Given the description of an element on the screen output the (x, y) to click on. 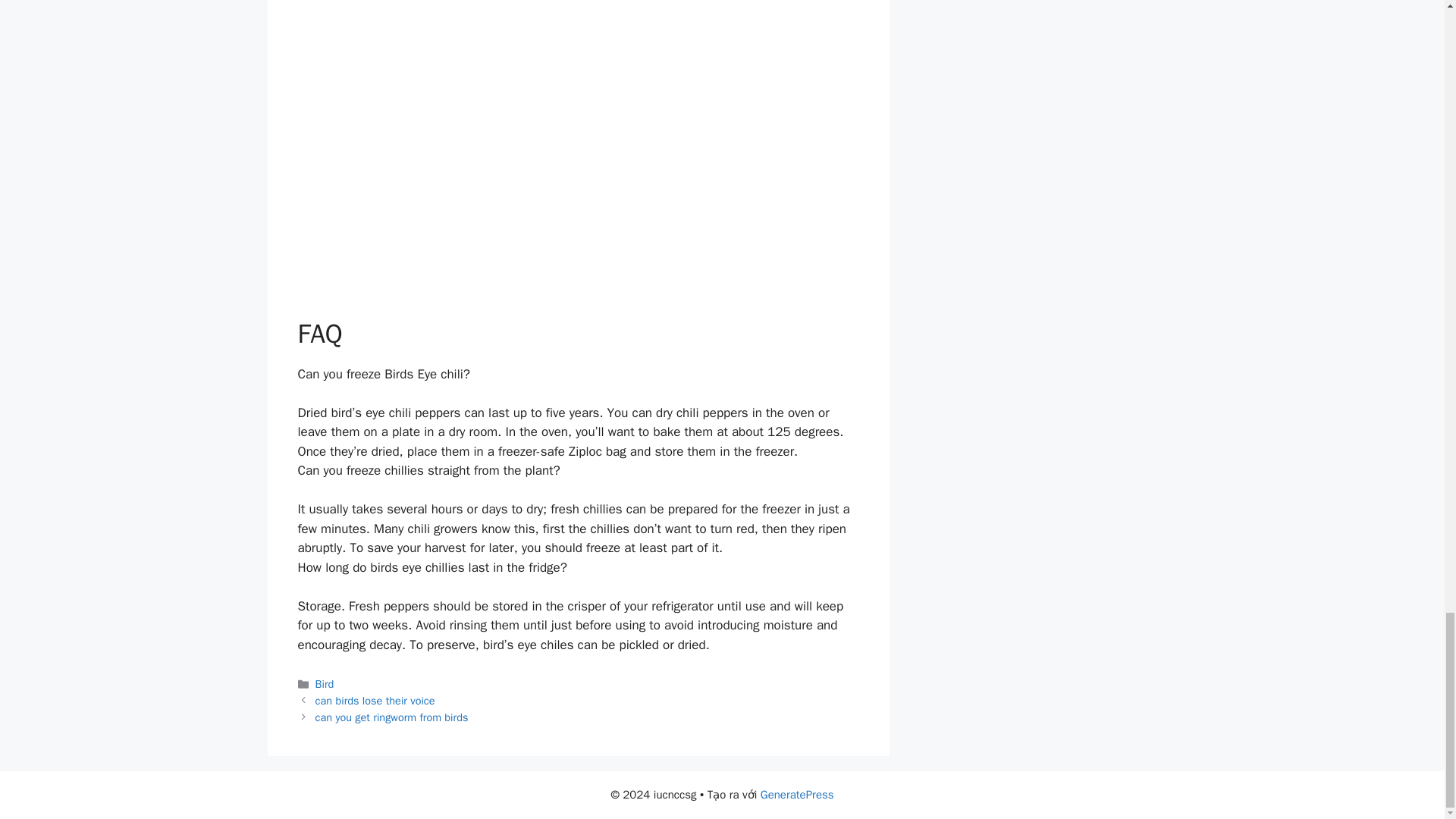
can you get ringworm from birds (391, 716)
GeneratePress (797, 794)
can birds lose their voice (375, 700)
Bird (324, 684)
